Given the description of an element on the screen output the (x, y) to click on. 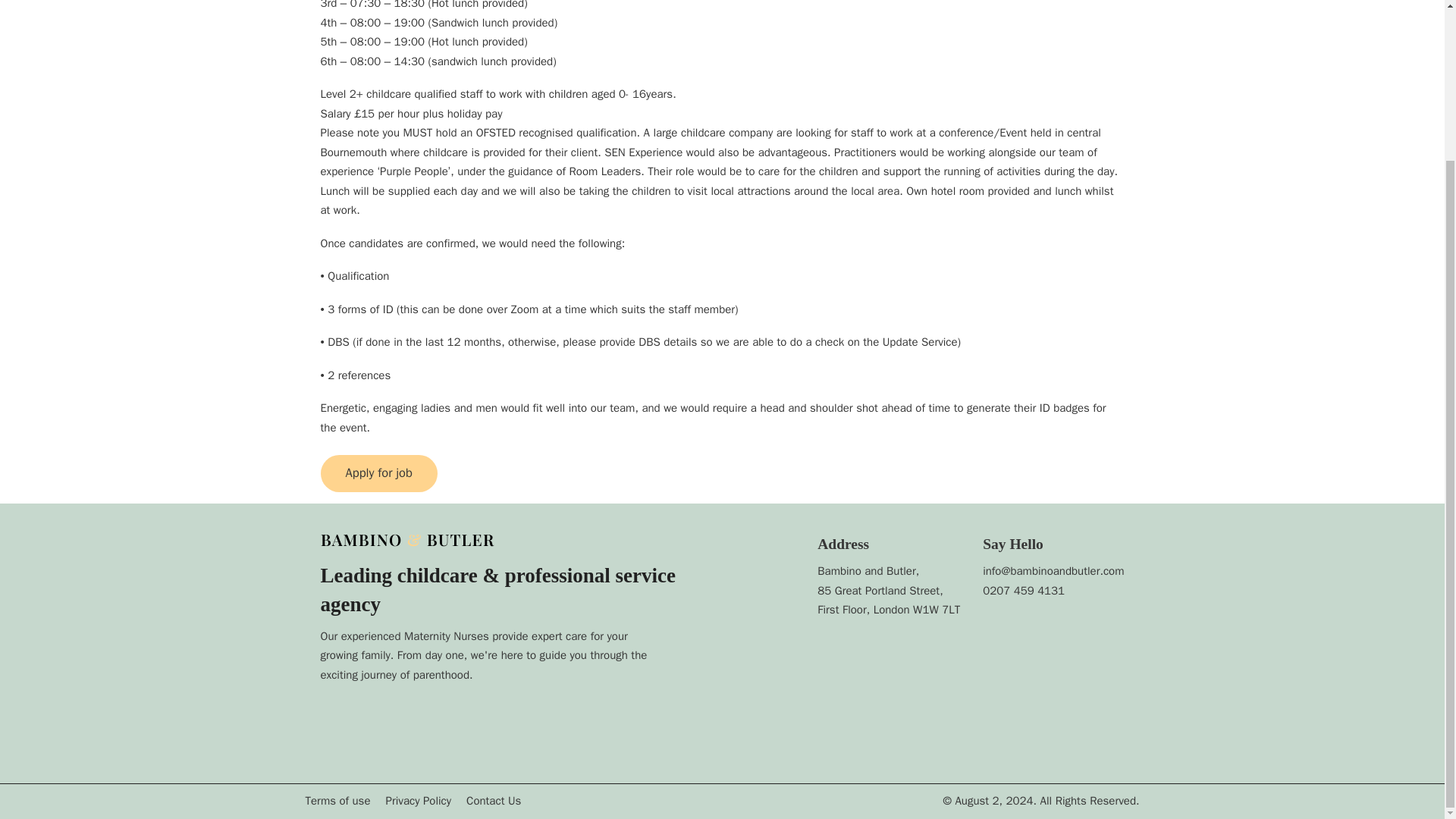
Contact Us (493, 801)
Terms of use (336, 801)
Privacy Policy (418, 801)
Apply for job (378, 473)
